Given the description of an element on the screen output the (x, y) to click on. 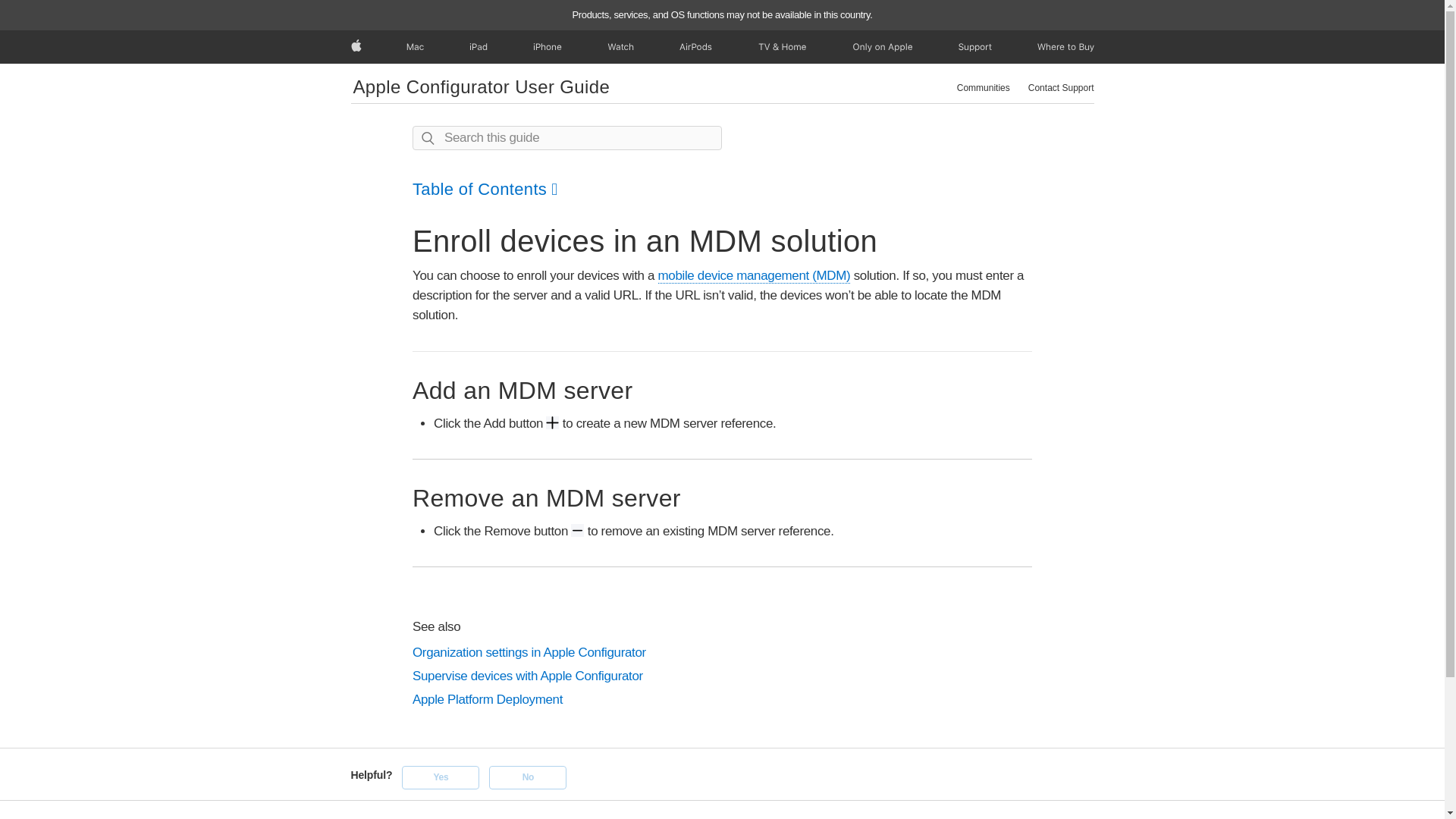
iPhone (547, 46)
Solved my problem (440, 776)
Table of Contents (484, 189)
iPad (478, 46)
Support (974, 46)
Contact Support (1060, 87)
Organization settings in Apple Configurator (722, 652)
No (527, 776)
Where to Buy (1065, 46)
Only on Apple (881, 46)
